Given the description of an element on the screen output the (x, y) to click on. 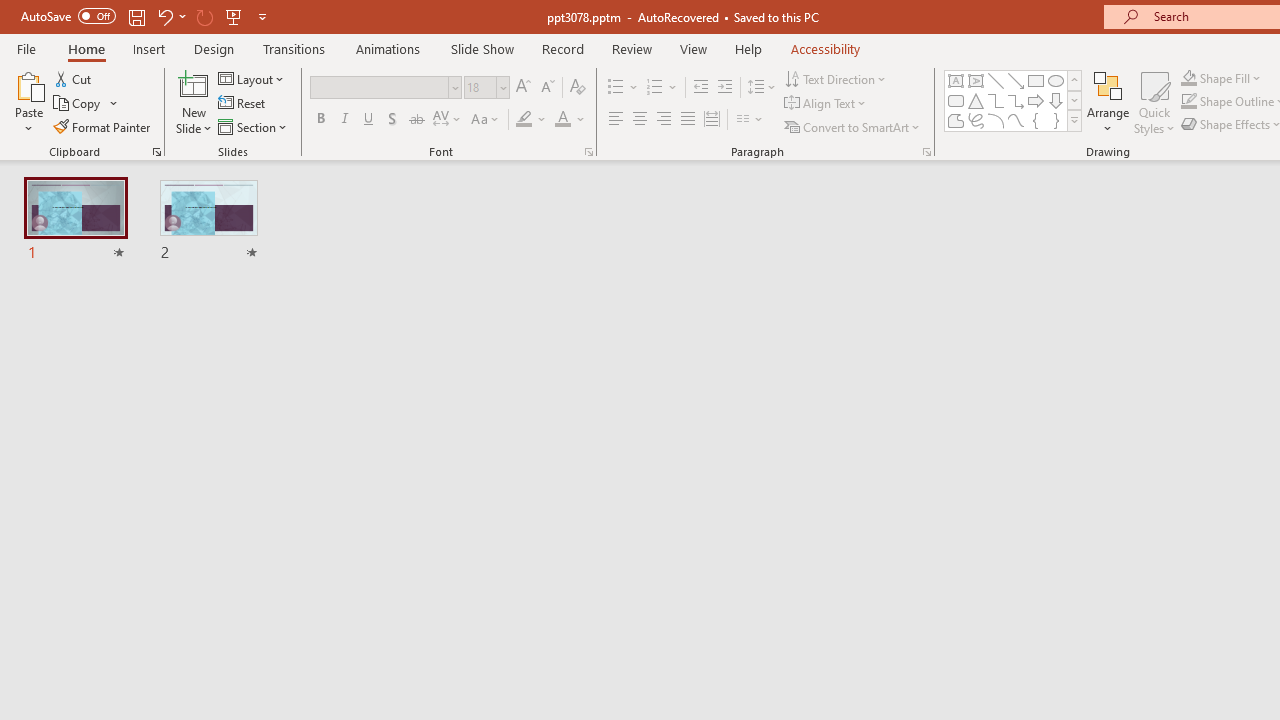
Shape Outline Green, Accent 1 (1188, 101)
